Given the description of an element on the screen output the (x, y) to click on. 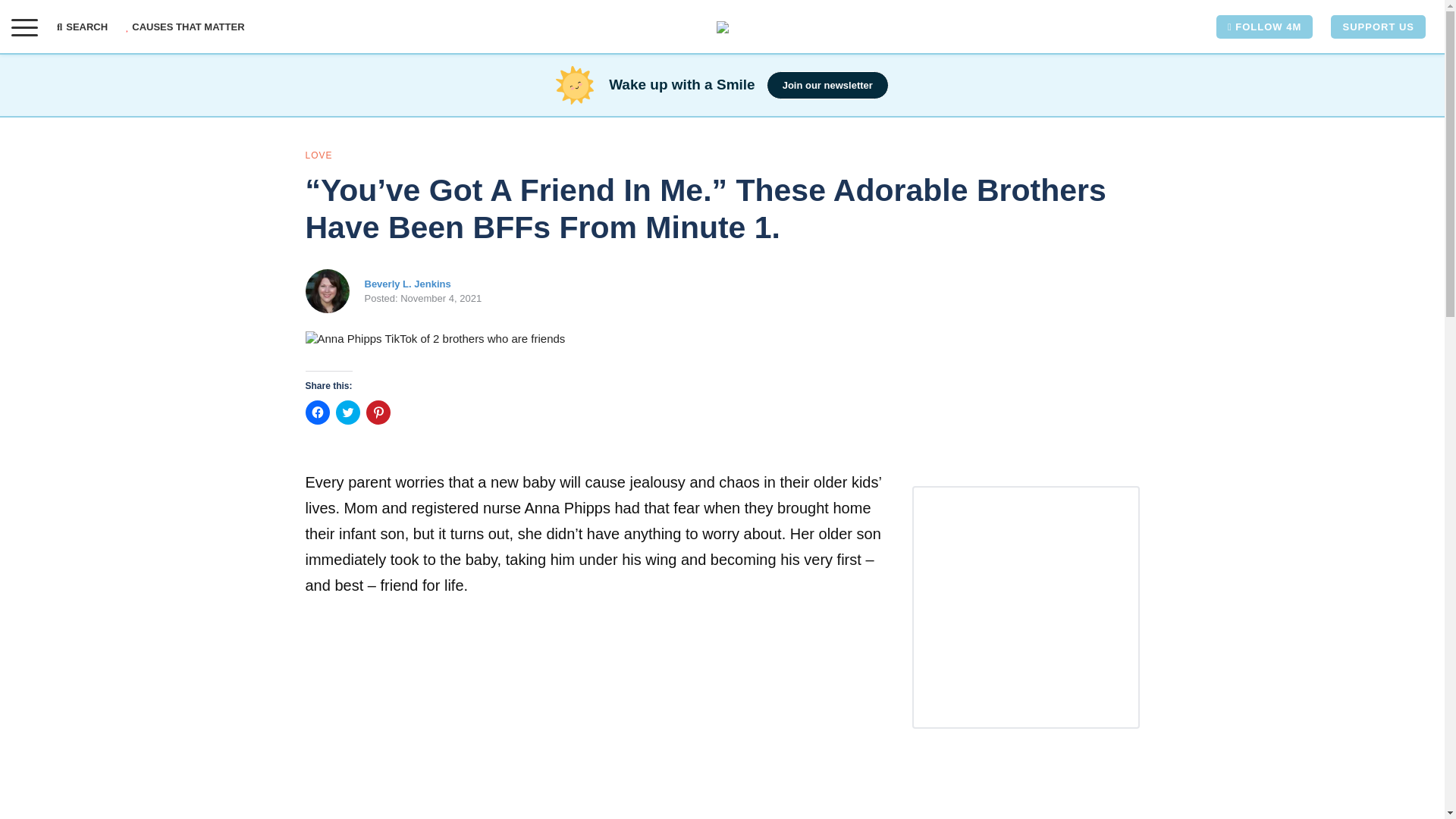
Join our newsletter (827, 85)
FOLLOW 4M (1264, 26)
SEARCH (86, 26)
Click to share on Pinterest (377, 412)
Click to share on Facebook (316, 412)
Click to share on Twitter (346, 412)
Beverly L. Jenkins (406, 283)
SUPPORT US (1377, 26)
CAUSES THAT MATTER (184, 26)
LOVE (317, 154)
